Given the description of an element on the screen output the (x, y) to click on. 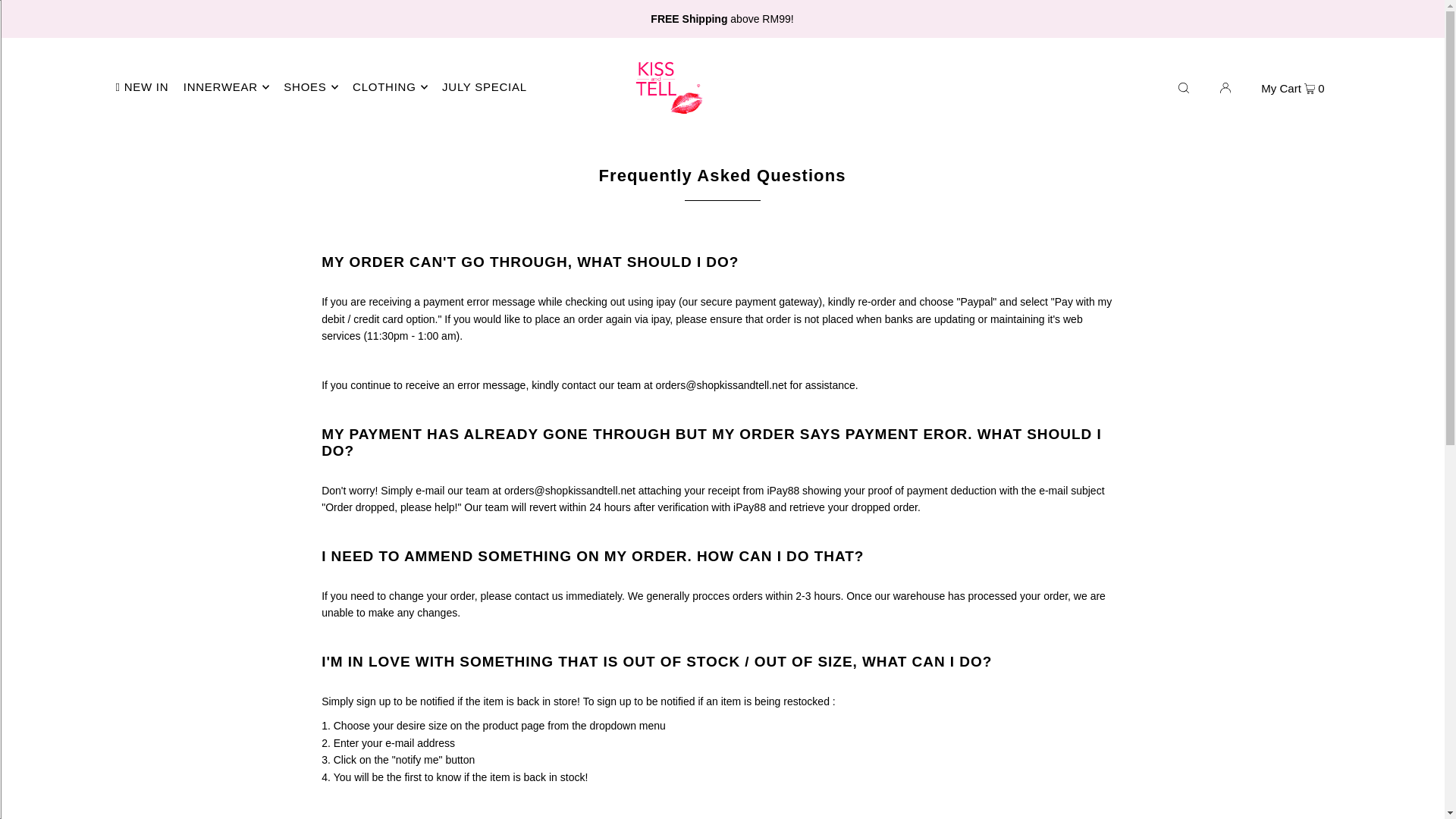
INNERWEAR (226, 86)
